Given the description of an element on the screen output the (x, y) to click on. 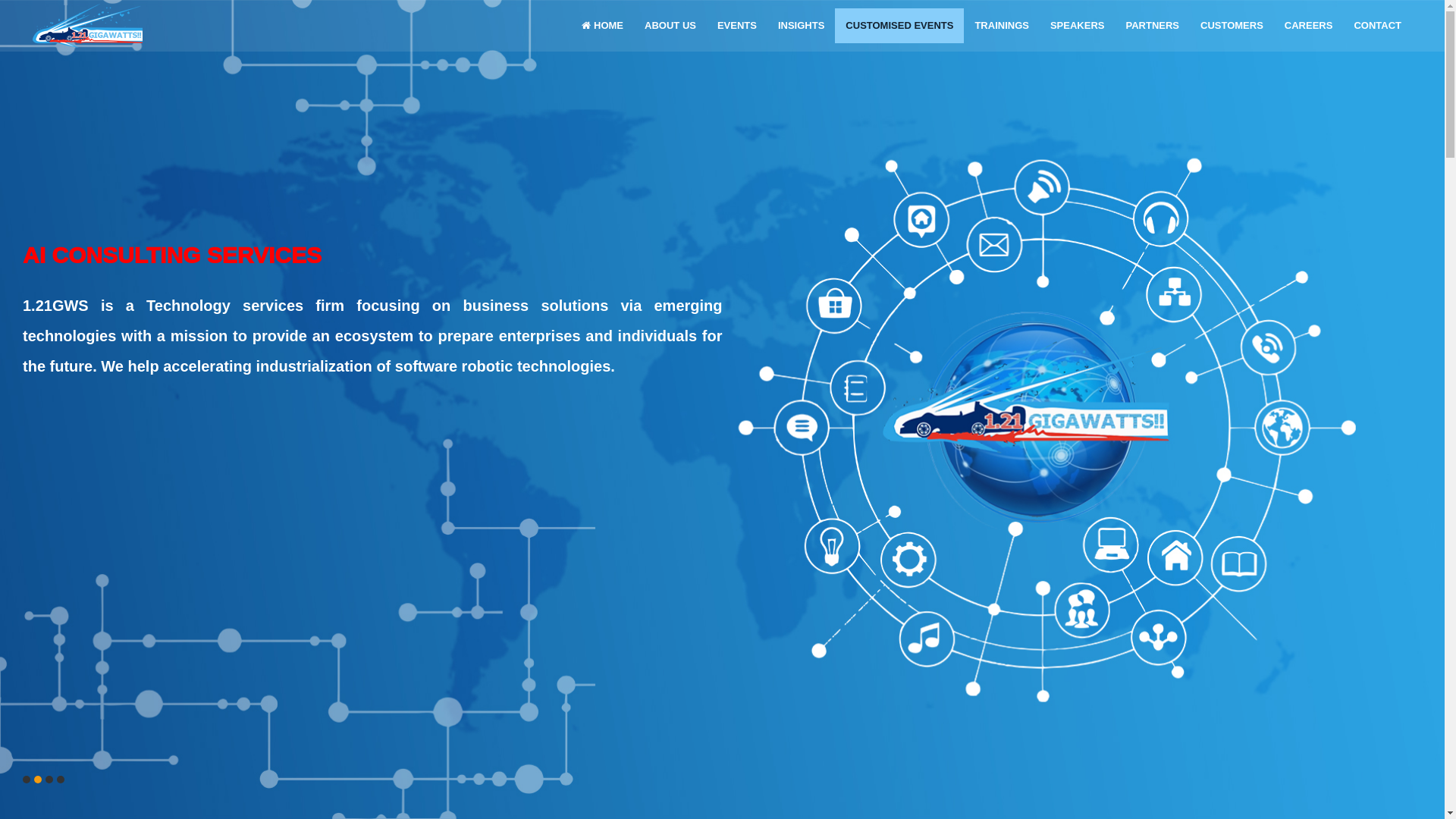
CUSTOMERS Element type: text (1231, 25)
CAREERS Element type: text (1308, 25)
HOME Element type: text (602, 25)
ABOUT US Element type: text (669, 25)
CONTACT Element type: text (1377, 25)
INSIGHTS Element type: text (800, 25)
EVENTS Element type: text (736, 25)
CUSTOMISED EVENTS Element type: text (898, 25)
PARTNERS Element type: text (1151, 25)
SPEAKERS Element type: text (1077, 25)
TRAININGS Element type: text (1001, 25)
